Given the description of an element on the screen output the (x, y) to click on. 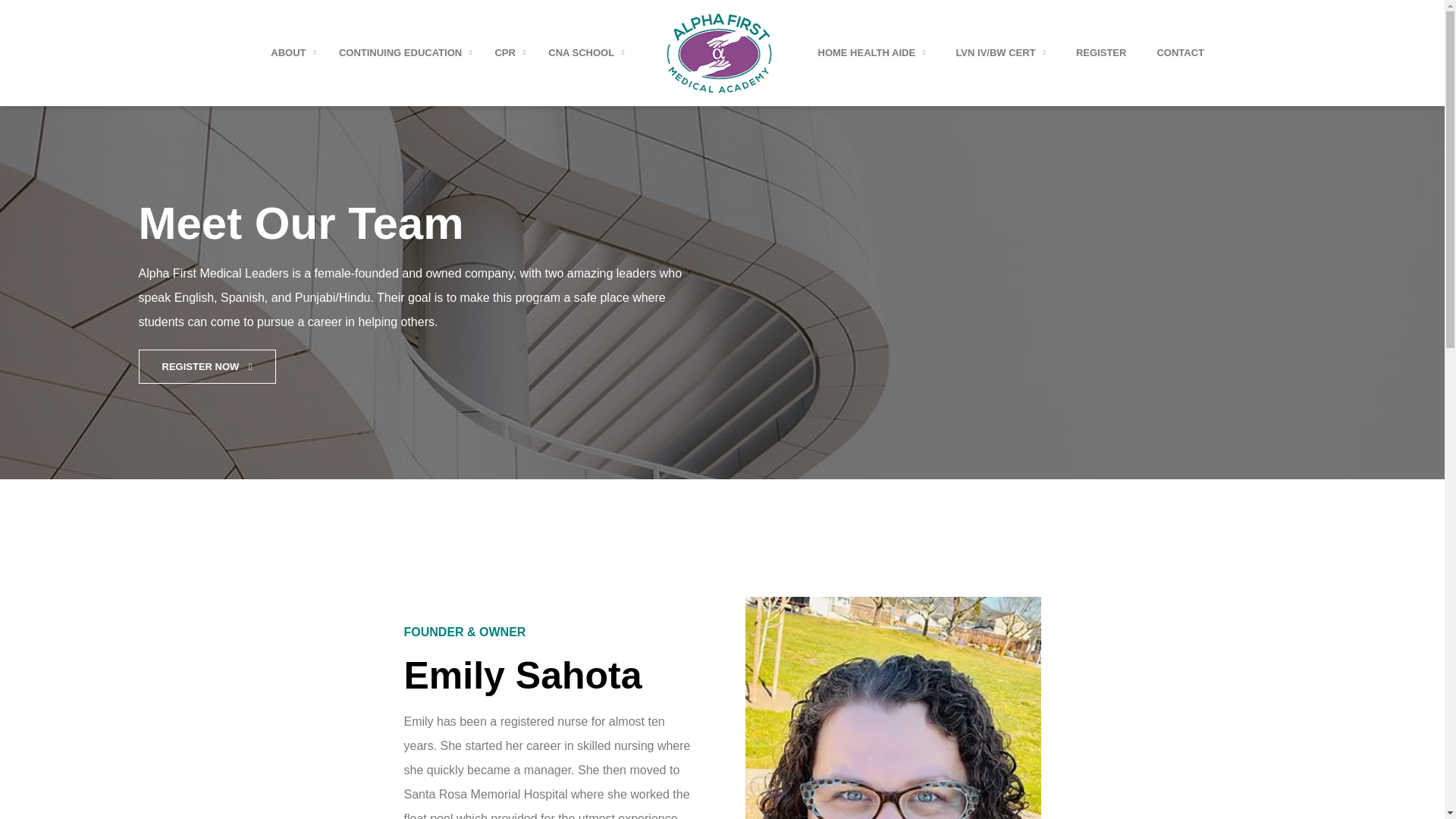
CONTINUING EDUCATION (405, 53)
HOME HEALTH AIDE (871, 53)
CNA SCHOOL (585, 53)
ABOUT (293, 53)
REGISTER (1101, 53)
CPR (510, 53)
